Given the description of an element on the screen output the (x, y) to click on. 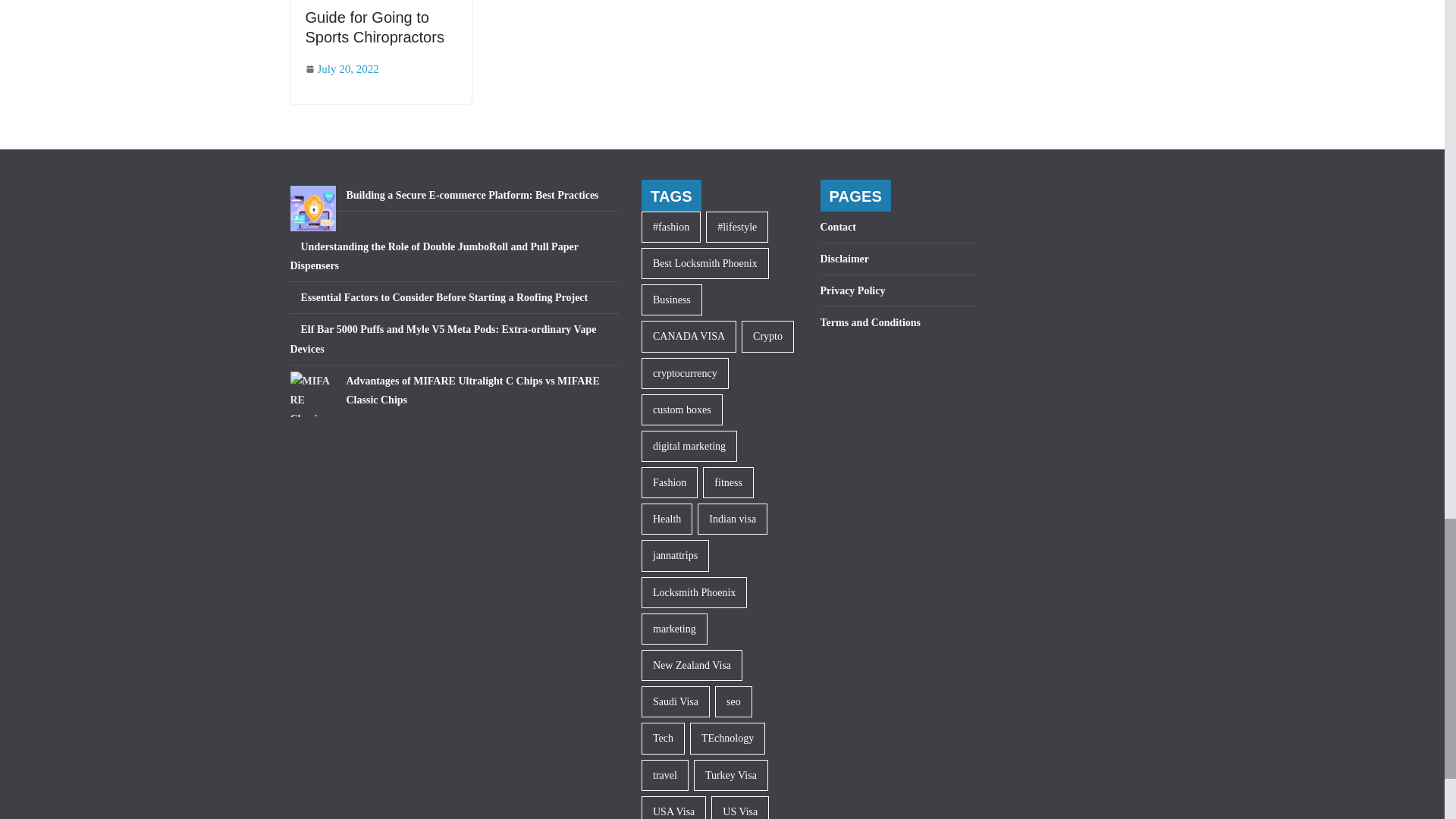
July 20, 2022 (341, 68)
Guide for Going to Sports Chiropractors (374, 27)
Guide for Going to Sports Chiropractors (374, 27)
10:55 am (341, 68)
